Given the description of an element on the screen output the (x, y) to click on. 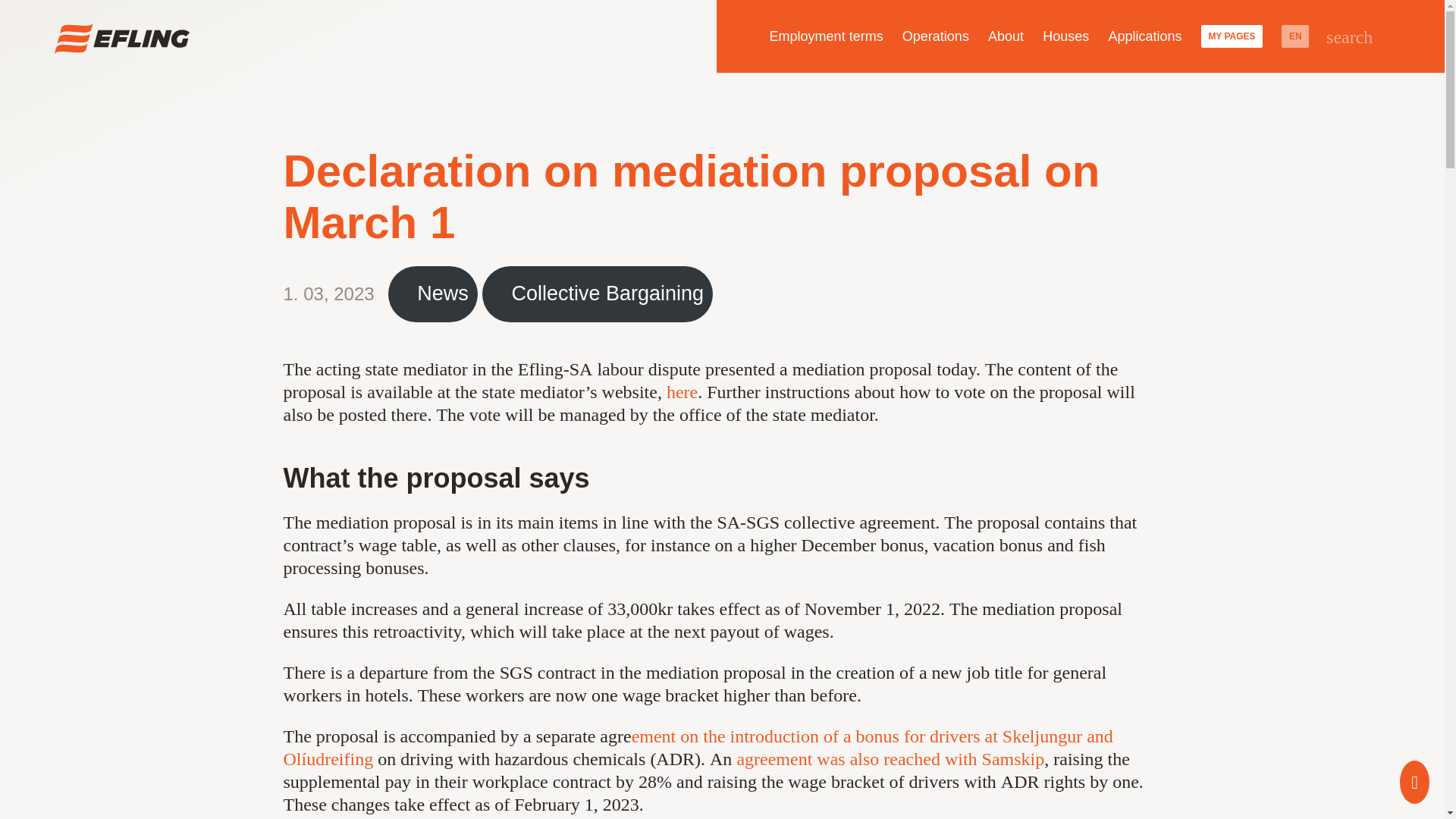
Applications (1144, 36)
MY PAGES (1231, 36)
Operations (935, 36)
Employment terms (825, 36)
